Given the description of an element on the screen output the (x, y) to click on. 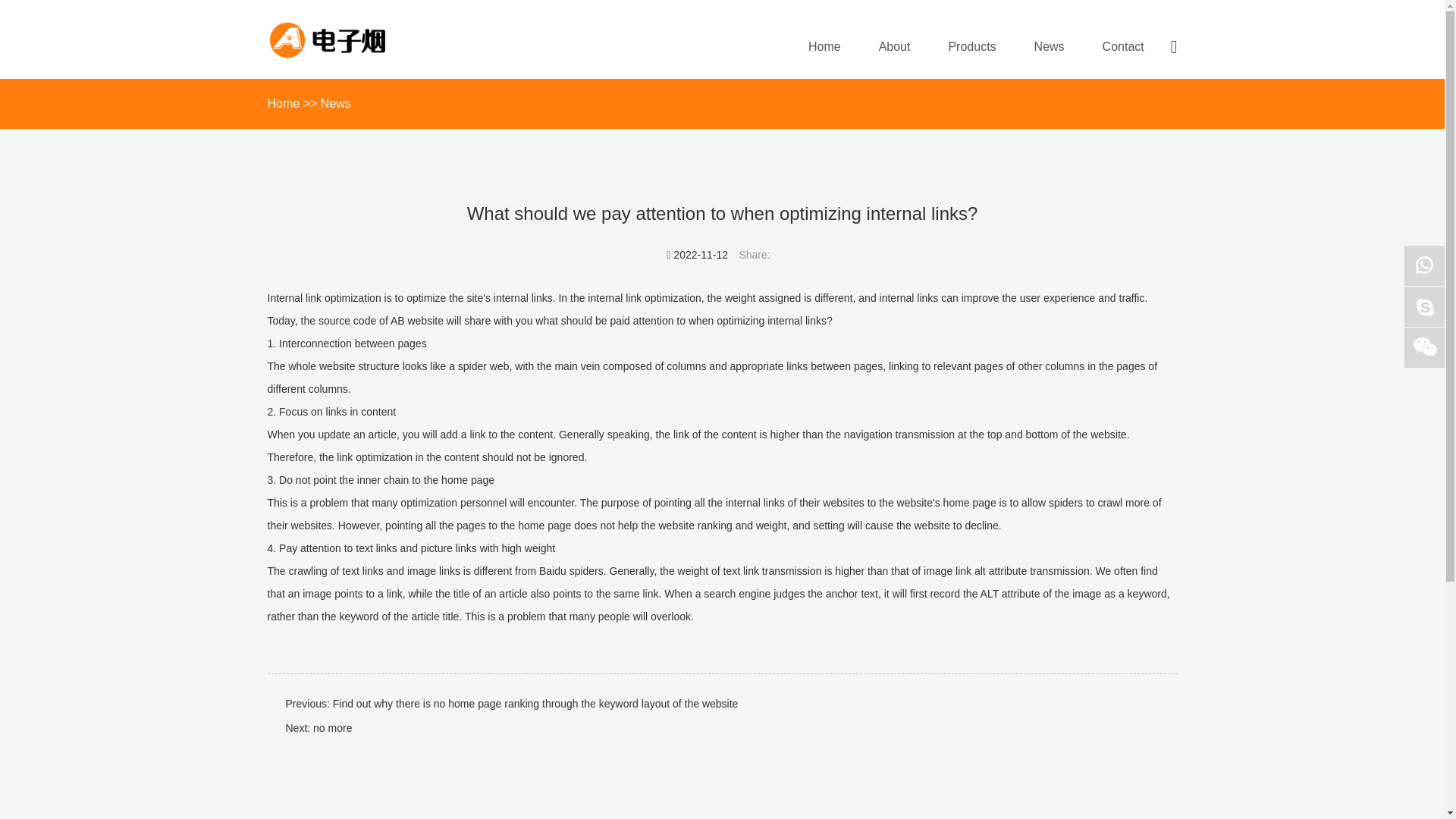
News (1048, 49)
Shenzhen Daotong Electronics Co., Ltd. (360, 40)
Home (282, 103)
Contact (1123, 49)
News (335, 103)
Shenzhen Daotong Electronics Co., Ltd. (360, 39)
no more (332, 727)
About (895, 49)
Products (971, 49)
Home (824, 49)
